Given the description of an element on the screen output the (x, y) to click on. 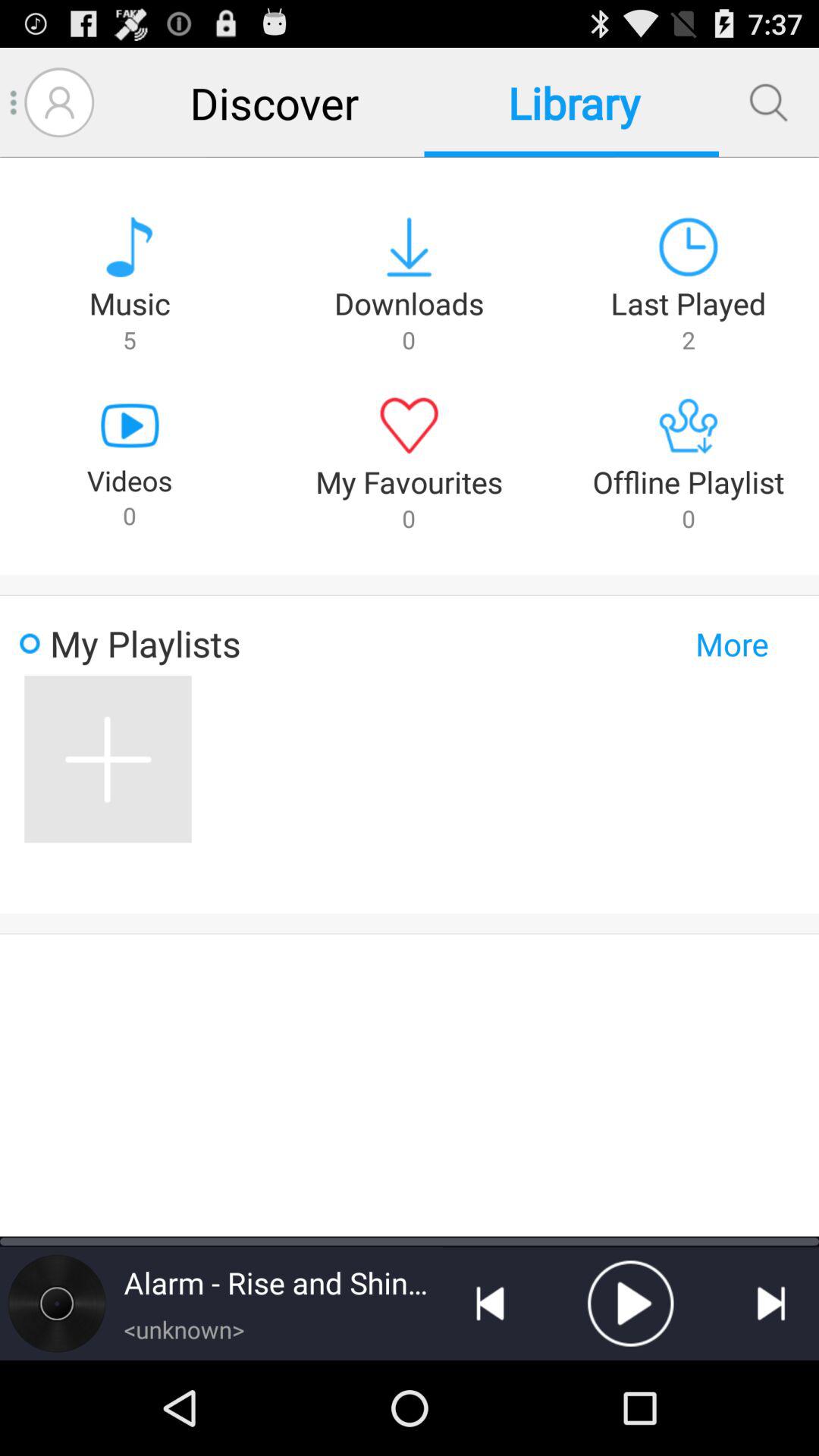
profile option (59, 102)
